Given the description of an element on the screen output the (x, y) to click on. 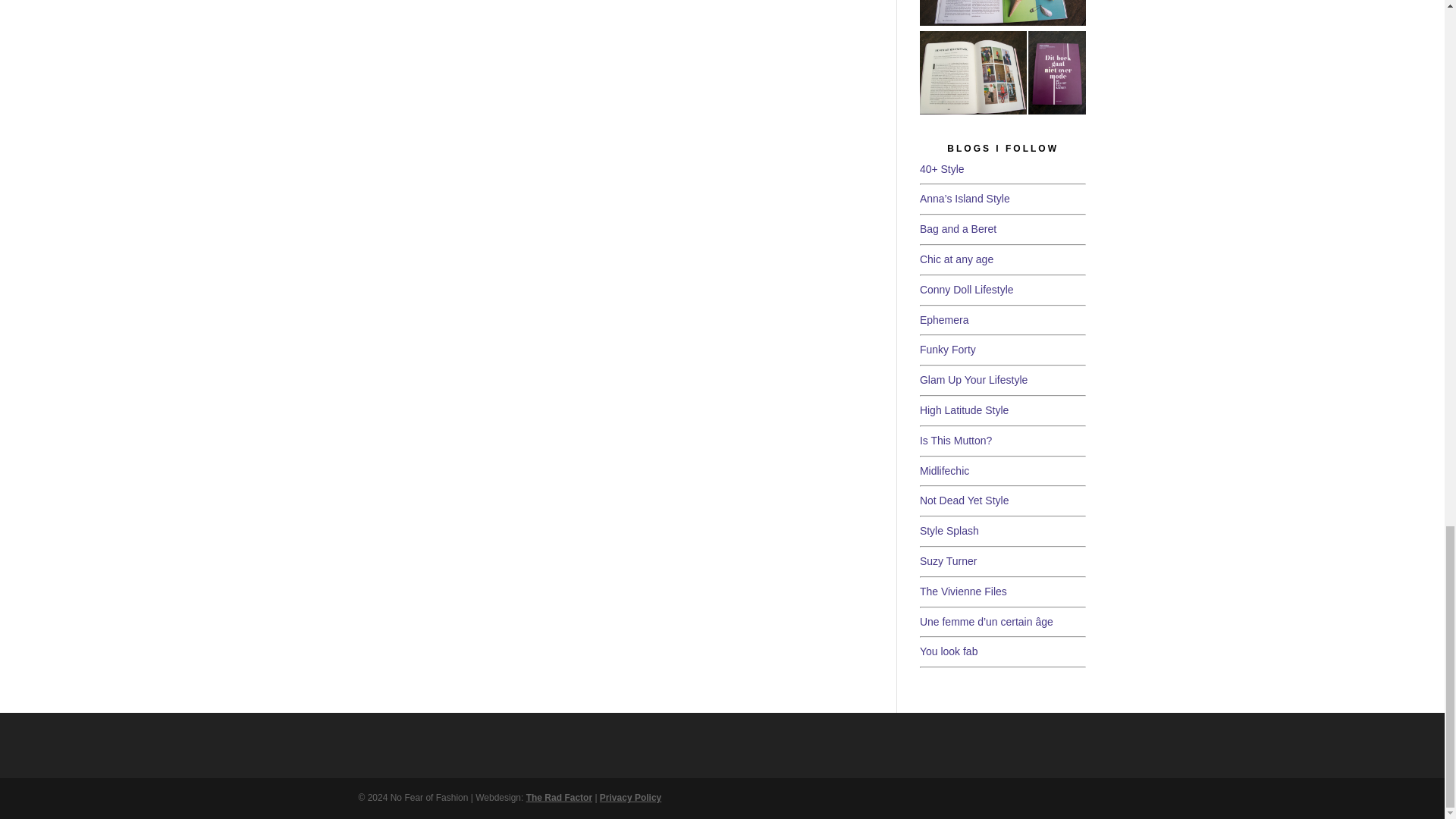
Is This Mutton? (955, 441)
Style Splash (949, 531)
Glam Up Your Lifestyle (973, 381)
Funky Forty (947, 350)
The Vivienne Files (963, 592)
Not Dead Yet Style (964, 501)
Ephemera (944, 321)
High Latitude Style (964, 411)
Chic at any age (956, 260)
Midlifechic (944, 472)
Conny Doll Lifestyle (966, 290)
Bag and a Beret (957, 230)
Suzy Turner (948, 562)
